Given the description of an element on the screen output the (x, y) to click on. 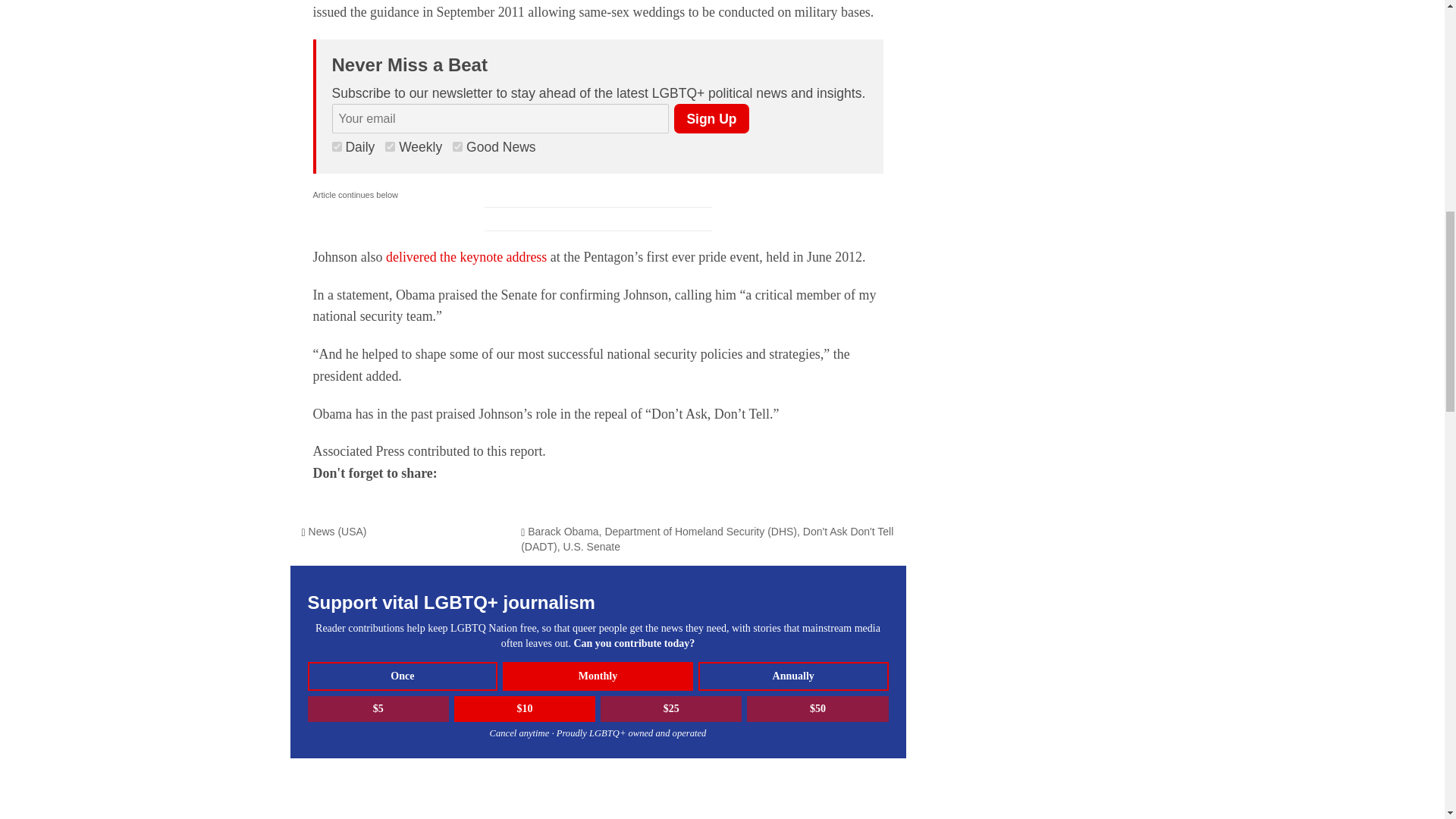
1920883 (457, 146)
delivered the keynote address (466, 256)
1920885 (336, 146)
Sign Up (711, 118)
1920884 (389, 146)
